Given the description of an element on the screen output the (x, y) to click on. 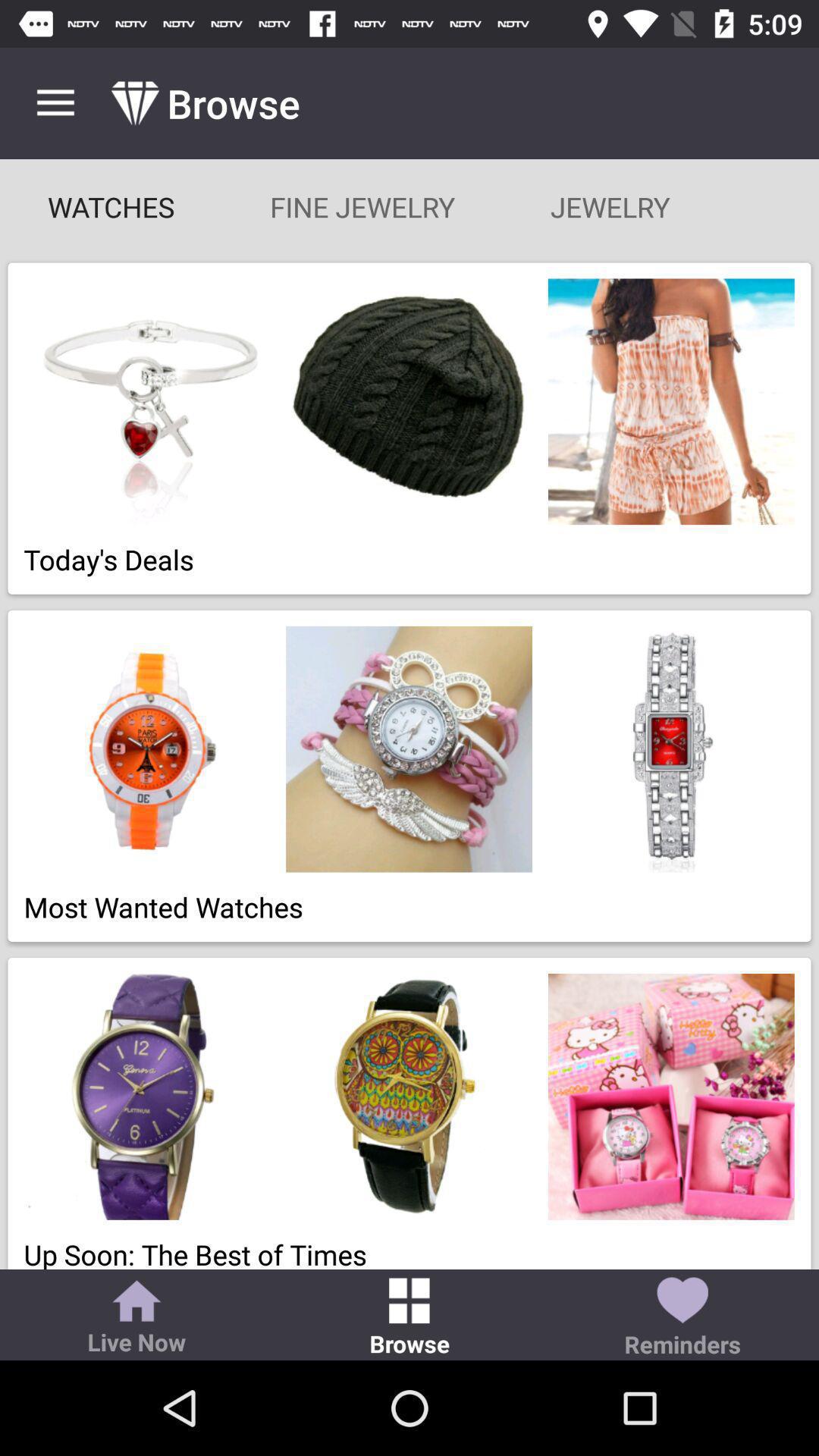
turn on the icon to the left of the jewelry icon (362, 206)
